Given the description of an element on the screen output the (x, y) to click on. 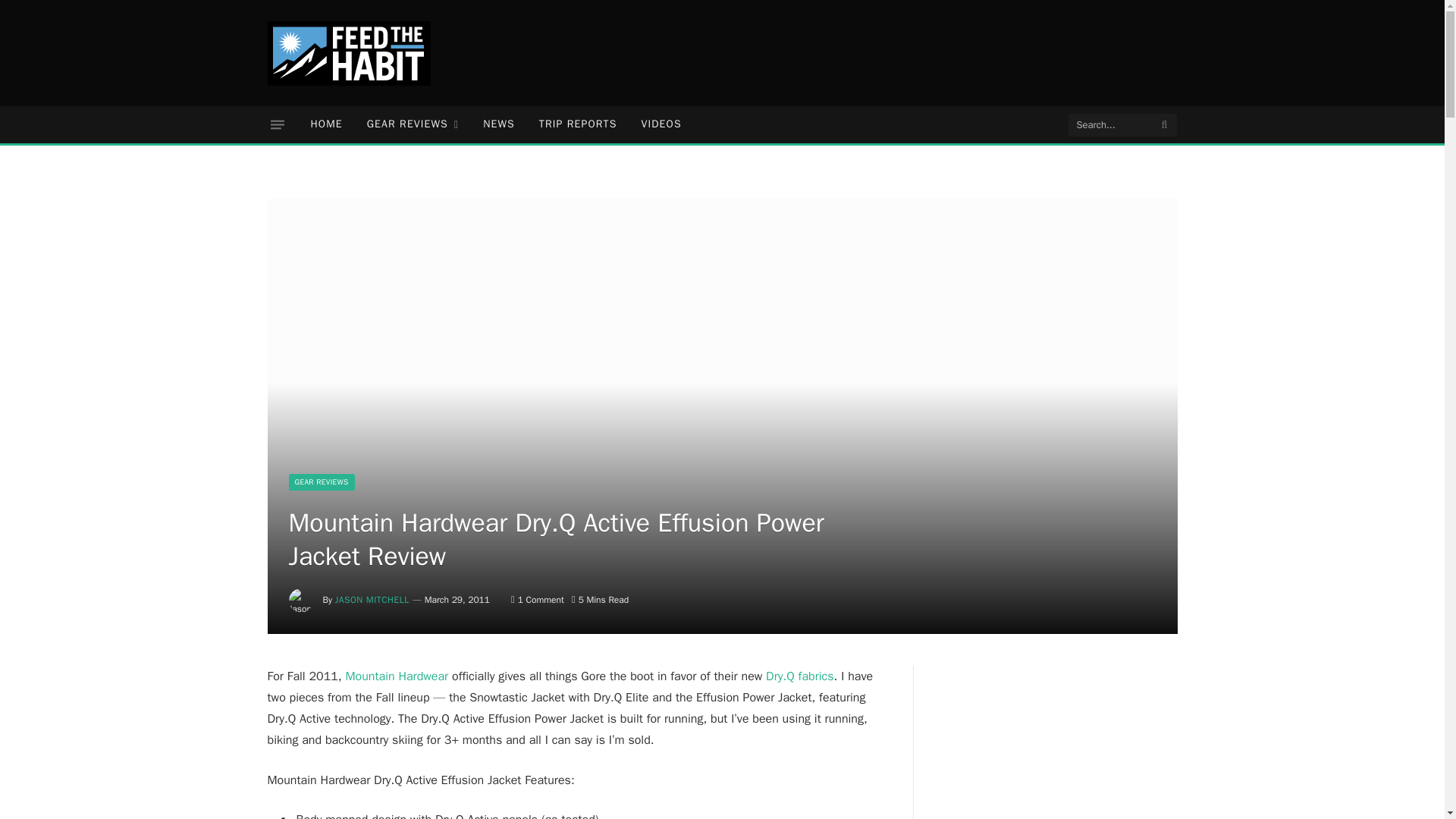
GEAR REVIEWS (320, 482)
JASON MITCHELL (371, 599)
1 Comment (537, 599)
VIDEOS (661, 124)
FeedTheHabit.com (347, 53)
GEAR REVIEWS (412, 124)
Dry.Q fabrics (798, 676)
Posts by Jason Mitchell (371, 599)
TRIP REPORTS (577, 124)
HOME (326, 124)
NEWS (498, 124)
Mountain Hardwear (396, 676)
